Given the description of an element on the screen output the (x, y) to click on. 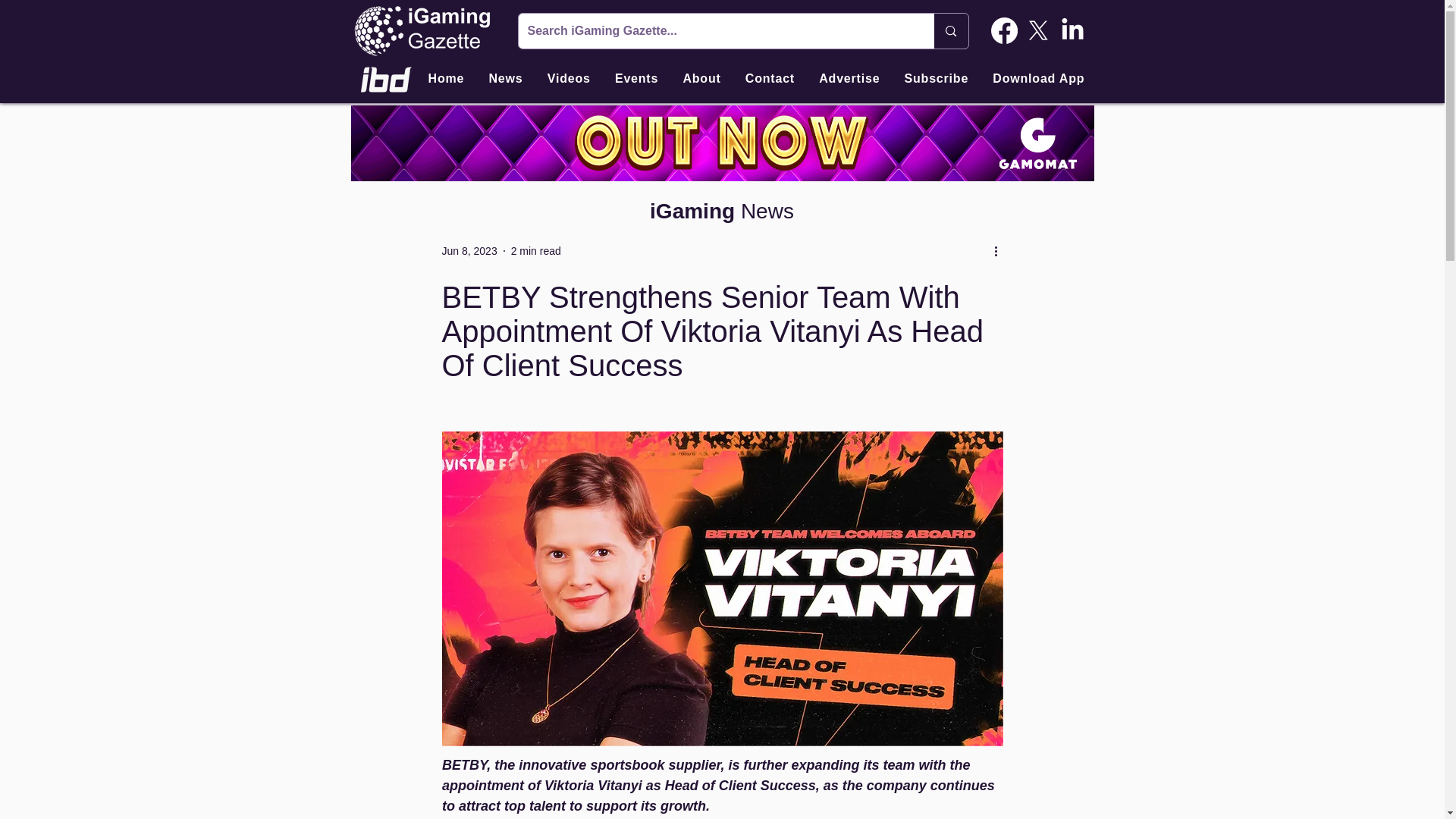
2 min read (535, 250)
Videos (568, 78)
News (505, 78)
Jun 8, 2023 (468, 250)
Home (446, 78)
